Given the description of an element on the screen output the (x, y) to click on. 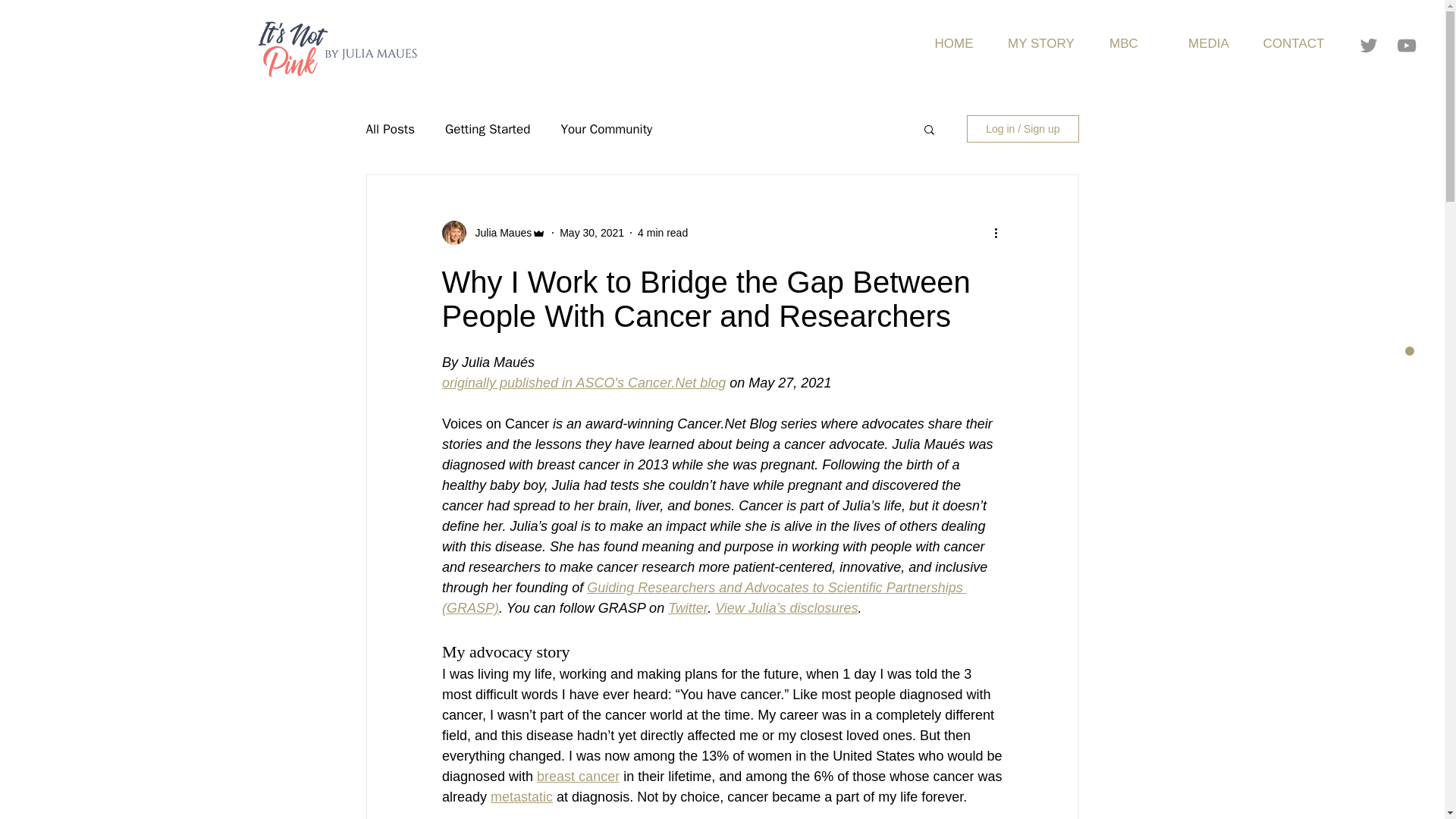
MBC (1123, 44)
MEDIA (1208, 44)
4 min read (662, 232)
originally published in ASCO's Cancer.Net blog (583, 382)
Julia Maues (498, 232)
May 30, 2021 (591, 232)
MY STORY (1038, 44)
breast cancer (578, 776)
metastatic (521, 796)
All Posts (389, 128)
